Given the description of an element on the screen output the (x, y) to click on. 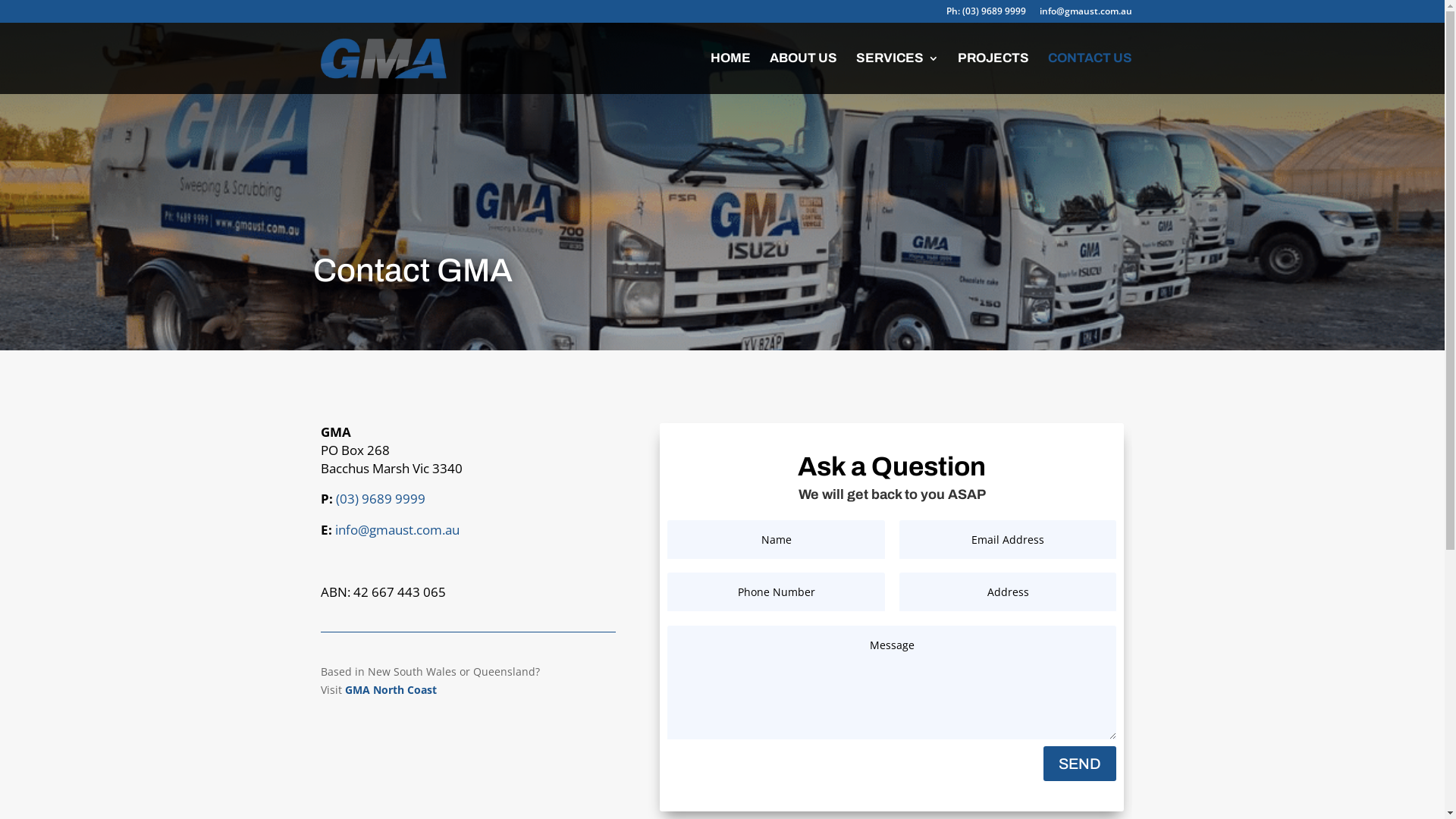
HOME Element type: text (729, 73)
info@gmaust.com.au Element type: text (397, 529)
Ph: (03) 9689 9999 Element type: text (986, 14)
PROJECTS Element type: text (992, 73)
SEND Element type: text (1079, 763)
Only numbers allowed. Element type: hover (775, 591)
SERVICES Element type: text (896, 73)
info@gmaust.com.au Element type: text (1084, 14)
CONTACT US Element type: text (1090, 73)
ABOUT US Element type: text (802, 73)
(03) 9689 9999 Element type: text (379, 498)
GMA North Coast Element type: text (390, 689)
